Given the description of an element on the screen output the (x, y) to click on. 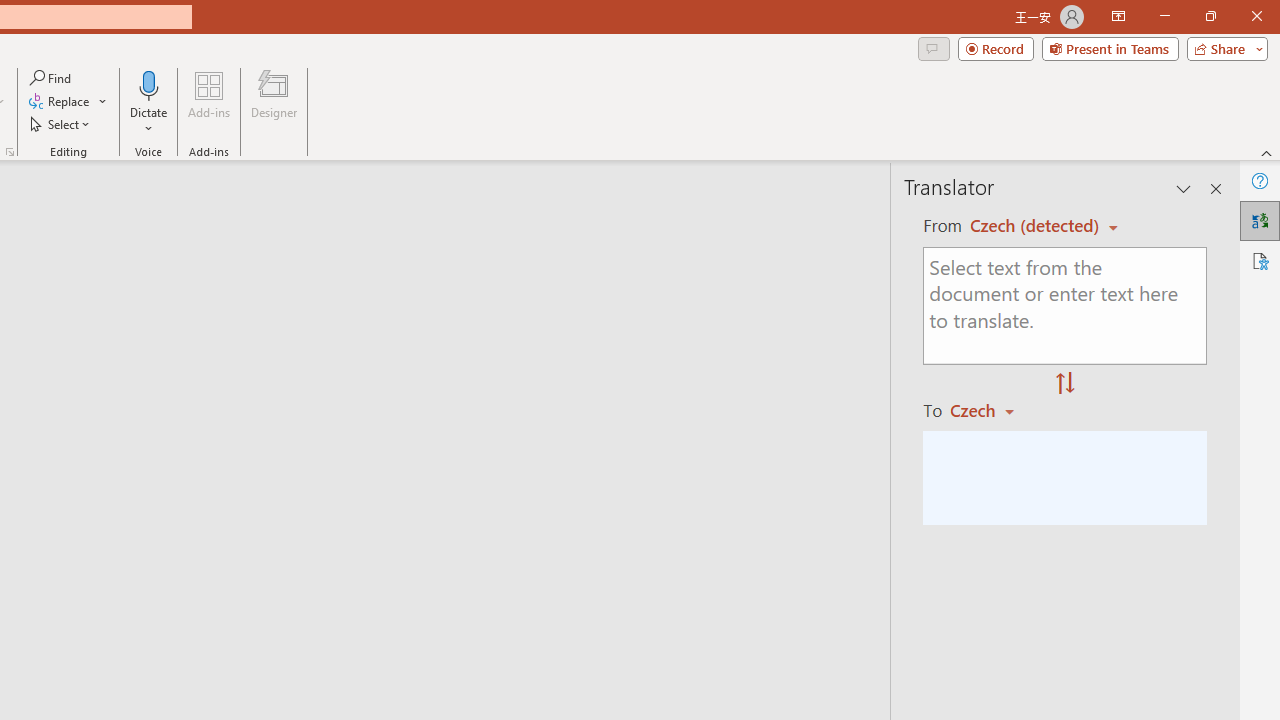
Czech (991, 409)
